Given the description of an element on the screen output the (x, y) to click on. 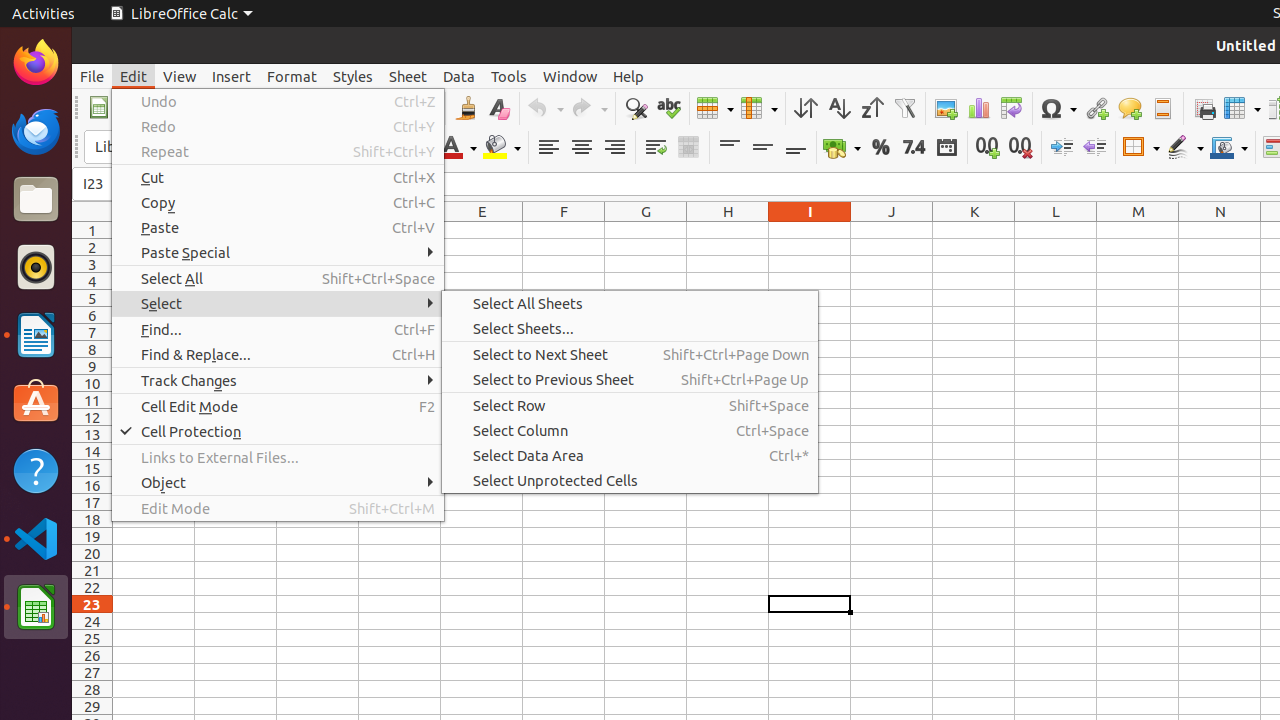
G1 Element type: table-cell (646, 230)
Undo Element type: menu-item (278, 101)
Sort Ascending Element type: push-button (838, 108)
M1 Element type: table-cell (1138, 230)
